Given the description of an element on the screen output the (x, y) to click on. 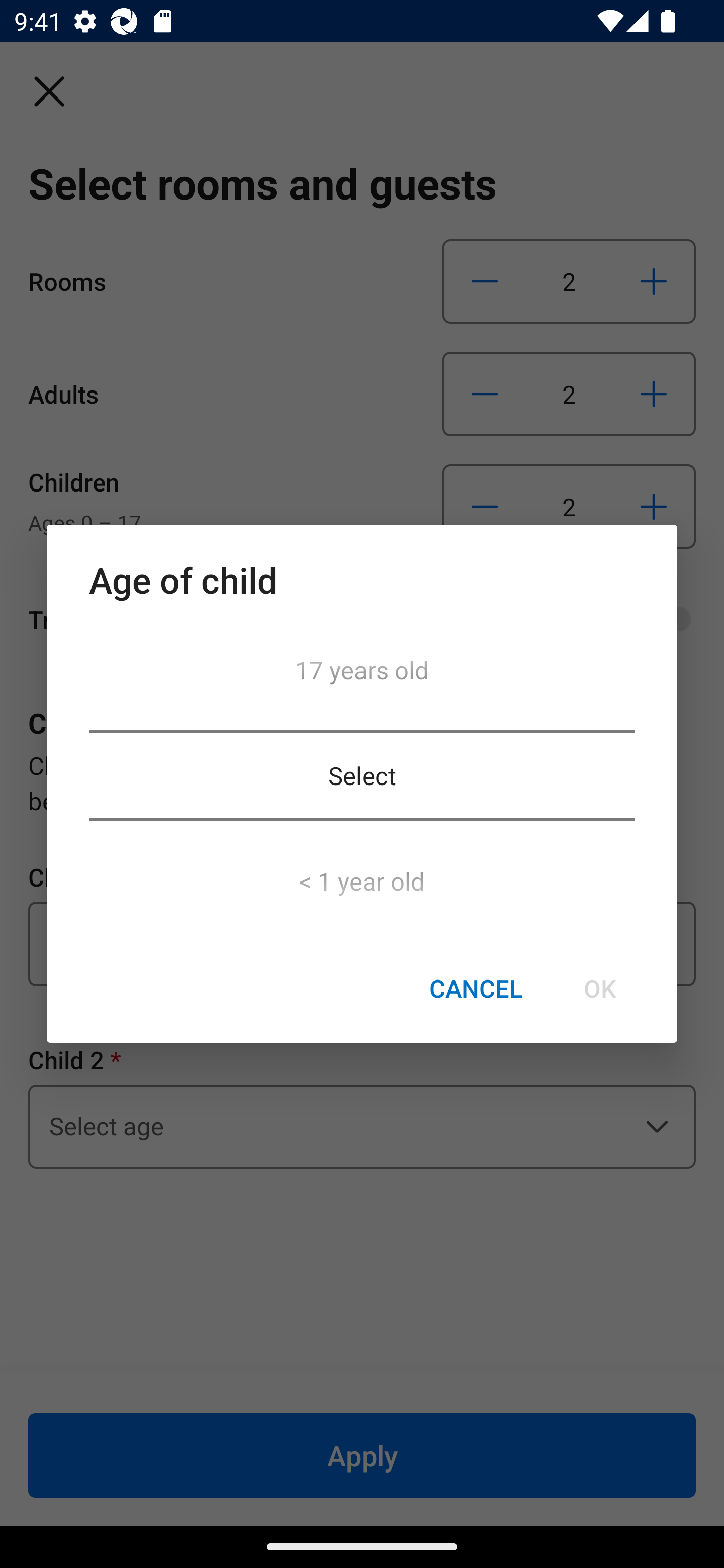
17 years old (361, 675)
Select (361, 774)
< 1 year old (361, 875)
CANCEL (475, 988)
OK (599, 988)
